Given the description of an element on the screen output the (x, y) to click on. 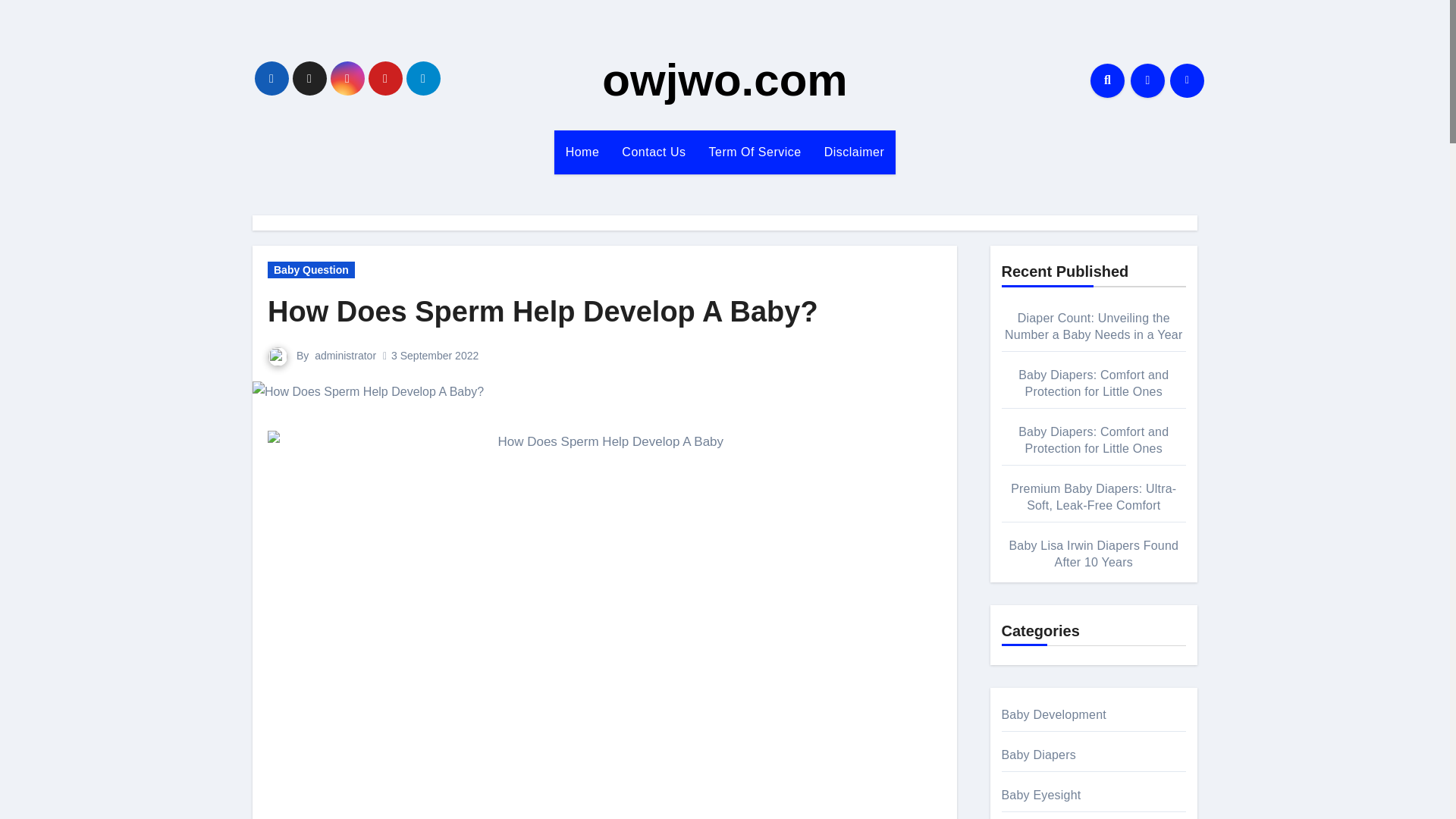
Permalink to: How Does Sperm Help Develop A Baby? (542, 311)
How Does Sperm Help Develop A Baby? (367, 391)
Baby Question (311, 269)
Term Of Service (754, 152)
owjwo.com (724, 79)
administrator (344, 355)
Contact Us (653, 152)
How Does Sperm Help Develop A Baby? (542, 311)
Disclaimer (854, 152)
Term Of Service (754, 152)
